Given the description of an element on the screen output the (x, y) to click on. 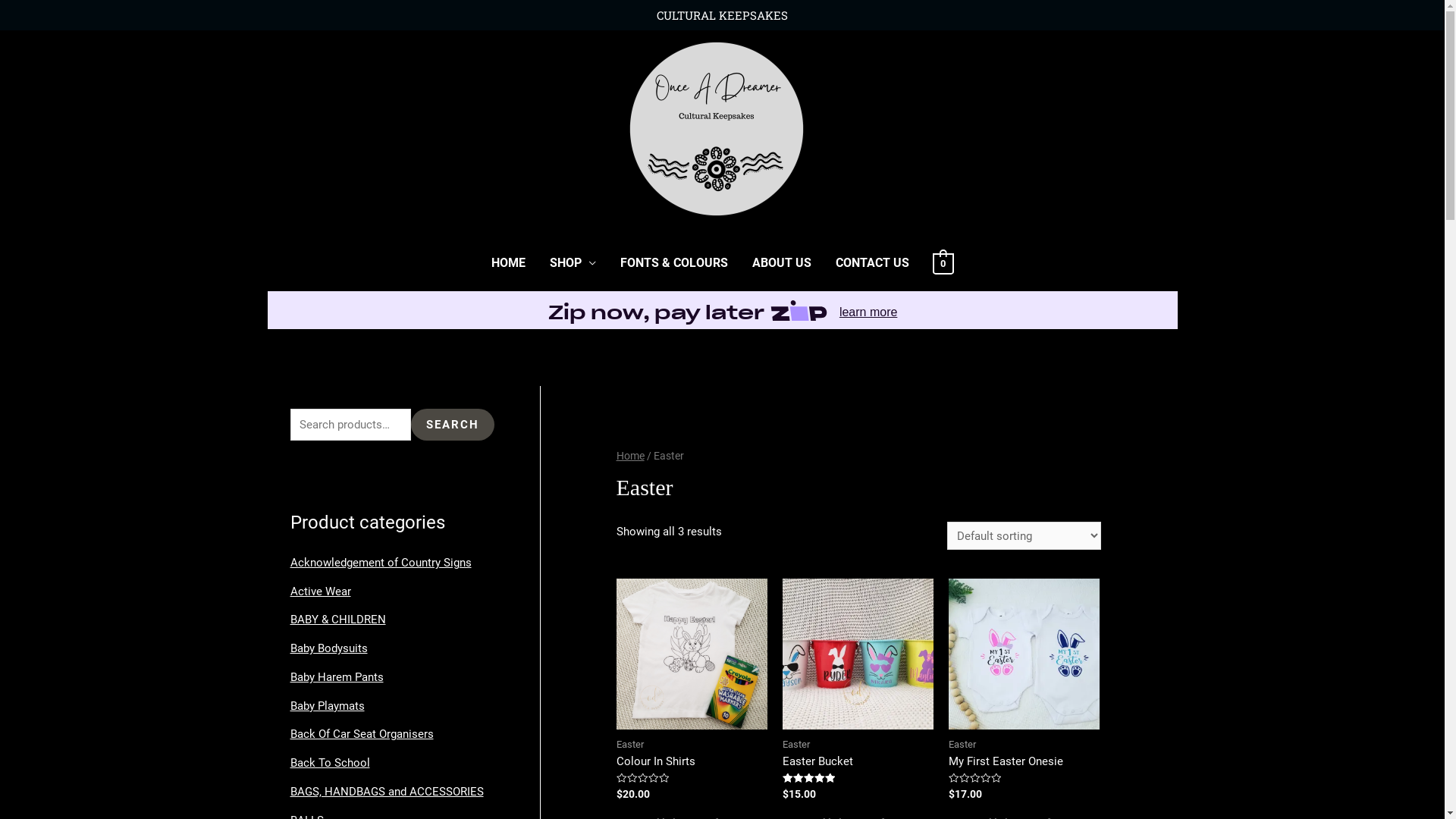
Baby Harem Pants Element type: text (335, 677)
CONTACT US Element type: text (872, 262)
BABY & CHILDREN Element type: text (337, 619)
ABOUT US Element type: text (781, 262)
My First Easter Onesie Element type: text (1023, 761)
Acknowledgement of Country Signs Element type: text (379, 562)
Back To School Element type: text (329, 762)
HOME Element type: text (508, 262)
FONTS & COLOURS Element type: text (674, 262)
BAGS, HANDBAGS and ACCESSORIES Element type: text (386, 791)
0 Element type: text (942, 262)
Active Wear Element type: text (319, 591)
SEARCH Element type: text (452, 424)
Back Of Car Seat Organisers Element type: text (361, 733)
Home Element type: text (630, 455)
Baby Bodysuits Element type: text (328, 648)
SHOP Element type: text (572, 262)
Colour In Shirts Element type: text (691, 761)
Easter Bucket Element type: text (857, 761)
Baby Playmats Element type: text (326, 705)
